Given the description of an element on the screen output the (x, y) to click on. 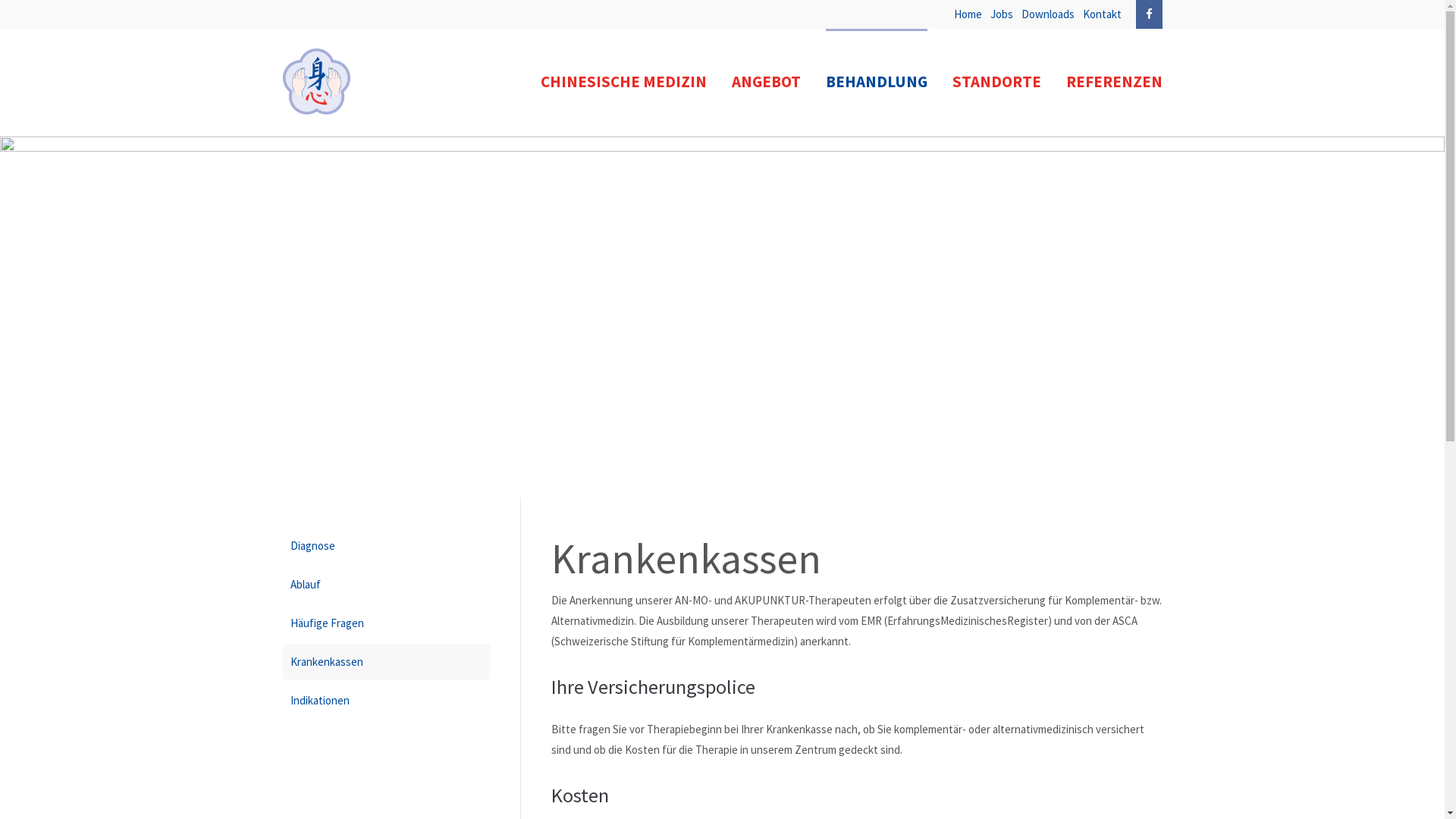
STANDORTE Element type: text (996, 81)
BEHANDLUNG Element type: text (875, 81)
ANGEBOT Element type: text (765, 81)
Jobs Element type: text (1001, 13)
Diagnose Element type: text (385, 545)
Home Element type: text (967, 13)
Indikationen Element type: text (385, 700)
Ablauf Element type: text (385, 584)
Krankenkassen Element type: text (385, 661)
Kontakt Element type: text (1101, 13)
Downloads Element type: text (1047, 13)
REFERENZEN Element type: text (1114, 81)
CHINESISCHE MEDIZIN Element type: text (622, 81)
